Given the description of an element on the screen output the (x, y) to click on. 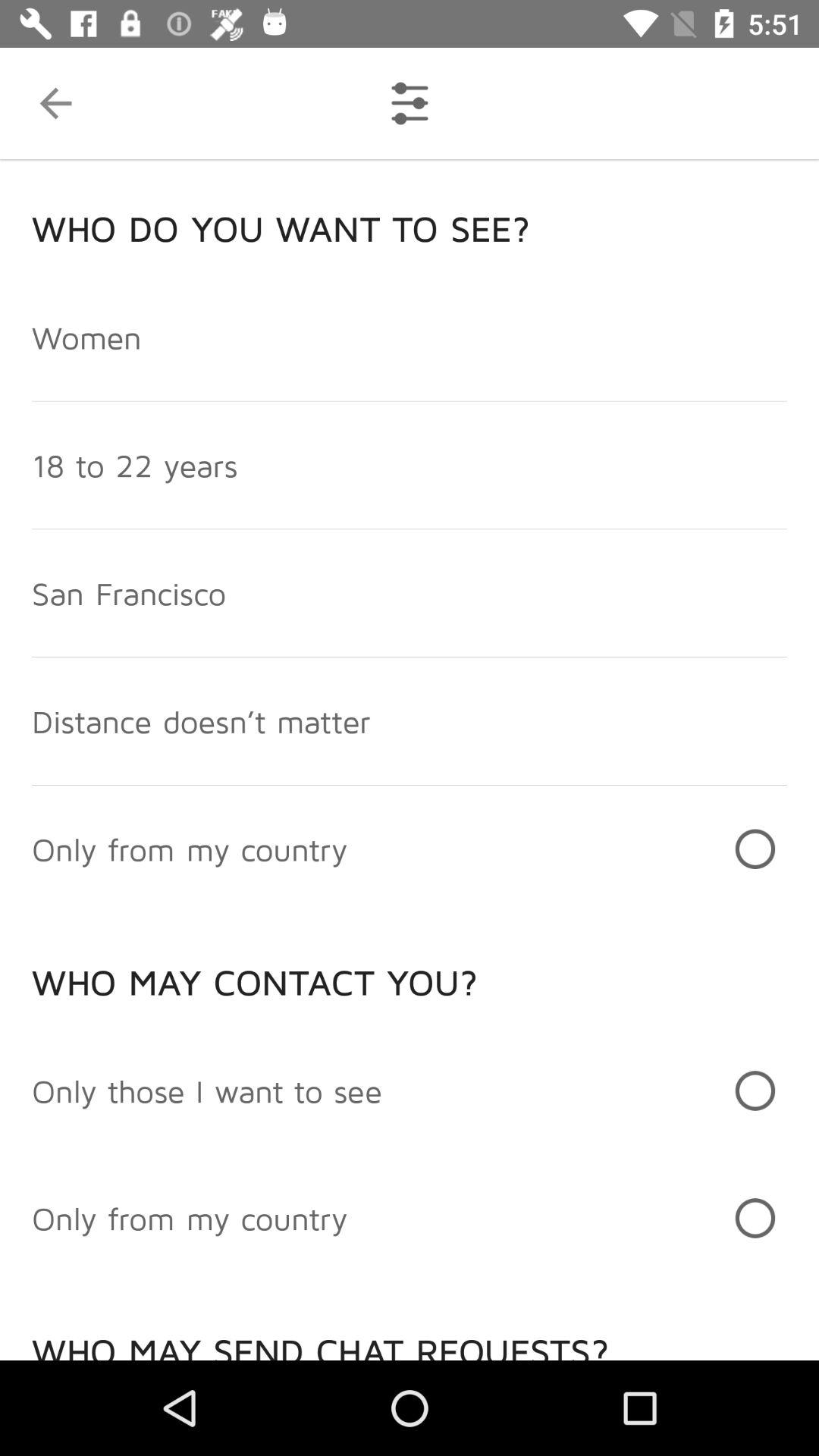
click the distance doesn t (200, 720)
